Given the description of an element on the screen output the (x, y) to click on. 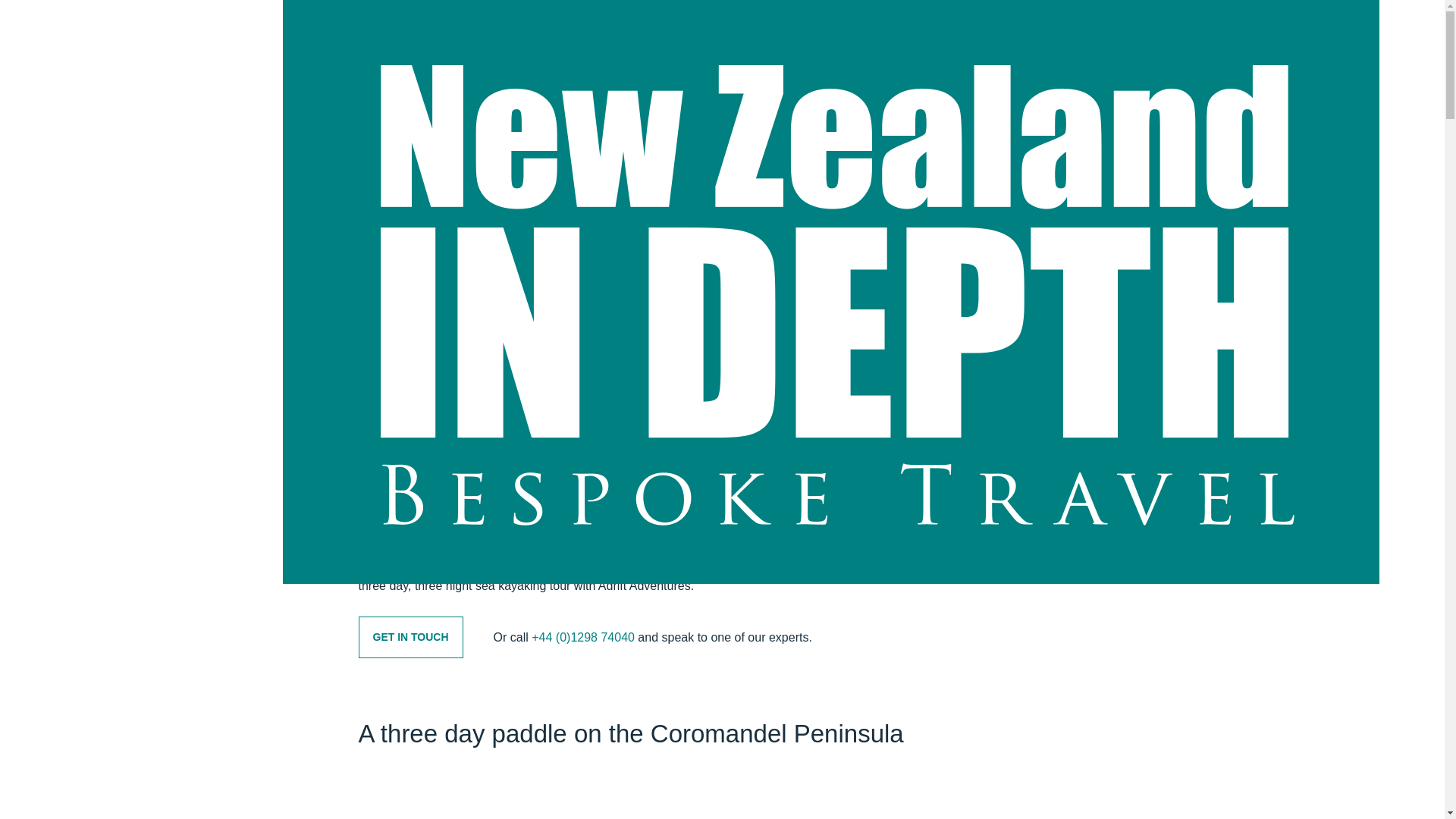
Search (916, 11)
Search (916, 11)
Contact Us (1109, 10)
Search (916, 11)
